Given the description of an element on the screen output the (x, y) to click on. 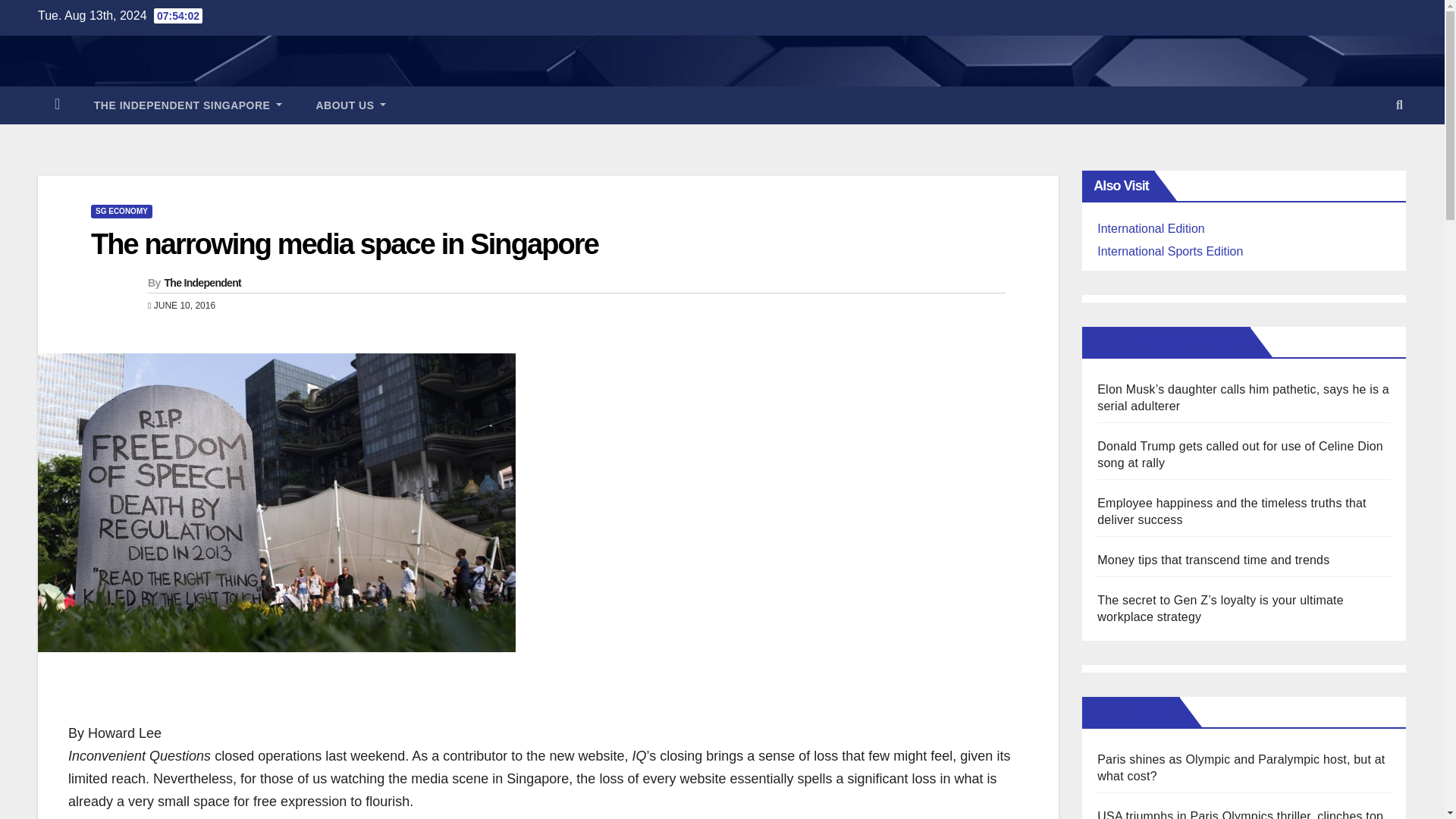
SG ECONOMY (121, 211)
Home (57, 105)
The narrowing media space in Singapore (344, 244)
Change in Voting (134, 817)
ABOUT US (350, 105)
The Independent Singapore (188, 105)
The Independent (202, 282)
THE INDEPENDENT SINGAPORE (188, 105)
